Given the description of an element on the screen output the (x, y) to click on. 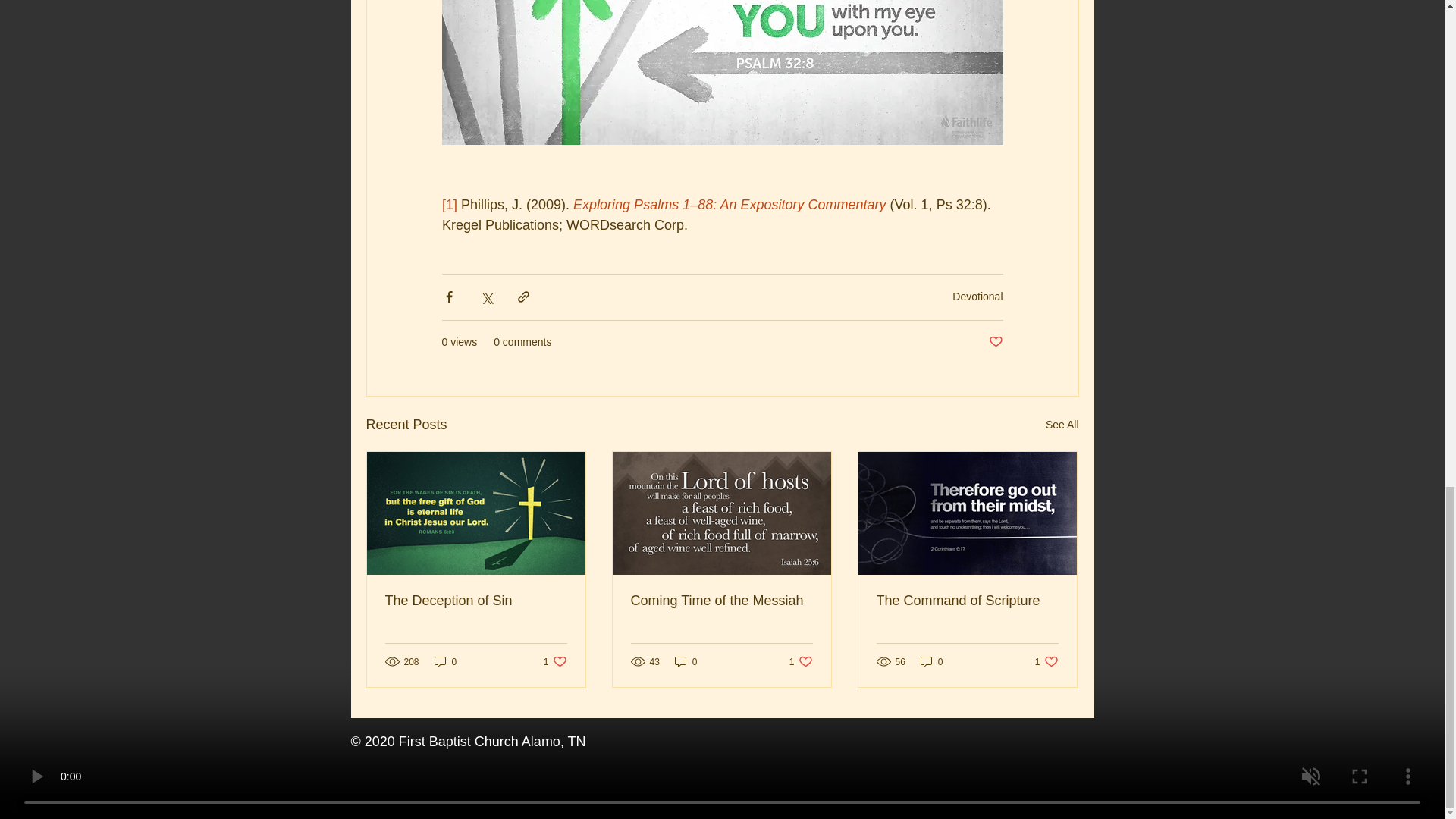
See All (1061, 424)
0 (445, 661)
Post not marked as liked (995, 342)
0 (685, 661)
Coming Time of the Messiah (721, 600)
The Deception of Sin (555, 661)
Devotional (476, 600)
